Given the description of an element on the screen output the (x, y) to click on. 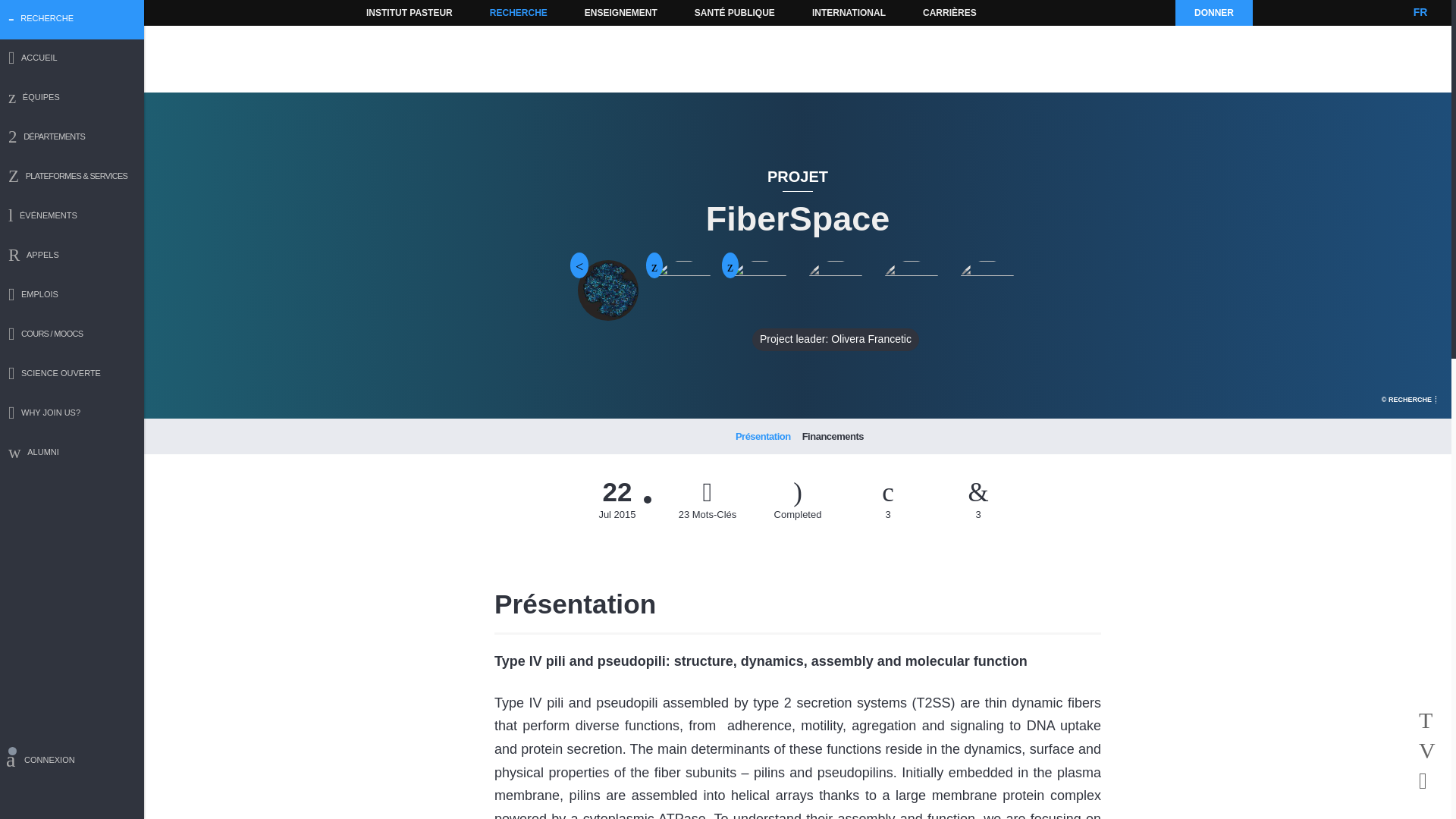
RECHERCHE (518, 12)
SCIENCE OUVERTE (72, 374)
ALUMNI (72, 454)
INTERNATIONAL (848, 12)
CONNEXION (72, 762)
ACCUEIL (72, 59)
Project leader: Olivera Francetic (835, 290)
APPELS (72, 256)
WHY JOIN US? (72, 413)
FR (1419, 11)
